Given the description of an element on the screen output the (x, y) to click on. 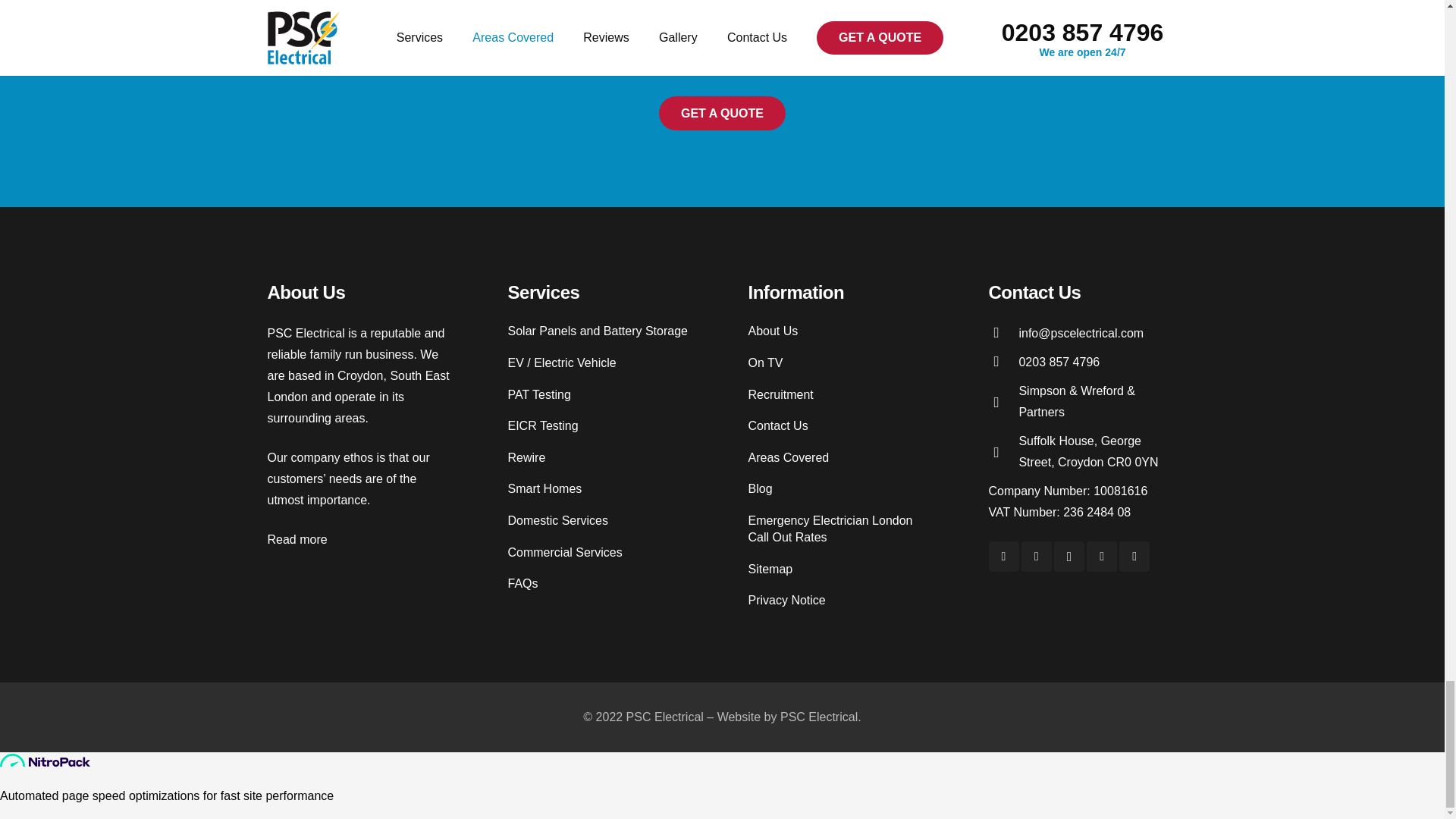
LinkedIn (1003, 556)
Facebook (1101, 556)
Instagram (1069, 556)
Twitter (1036, 556)
Get A Free Quote (722, 113)
YouTube (1134, 556)
